Given the description of an element on the screen output the (x, y) to click on. 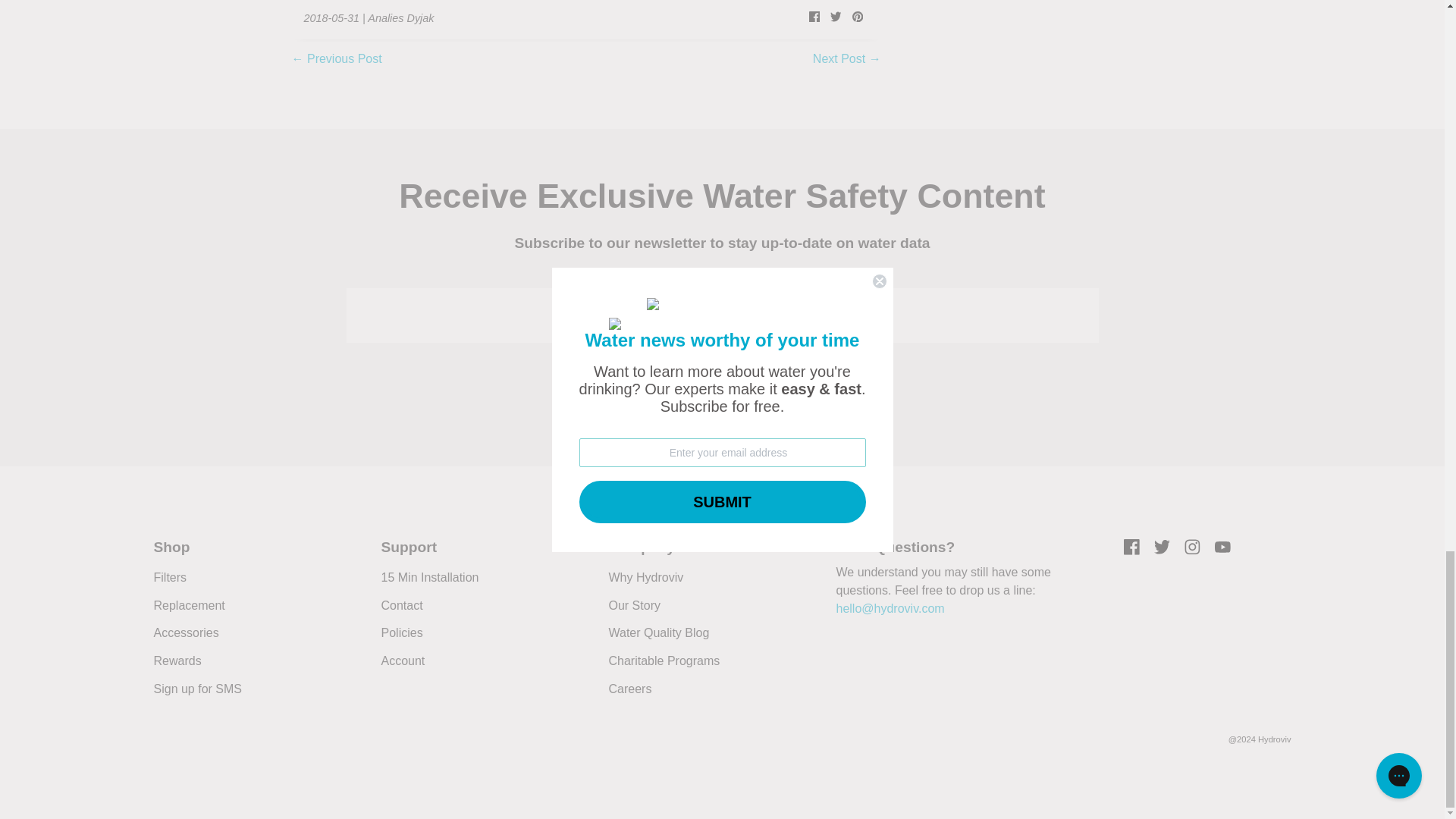
Previous Post (344, 58)
Next Post (838, 58)
